Given the description of an element on the screen output the (x, y) to click on. 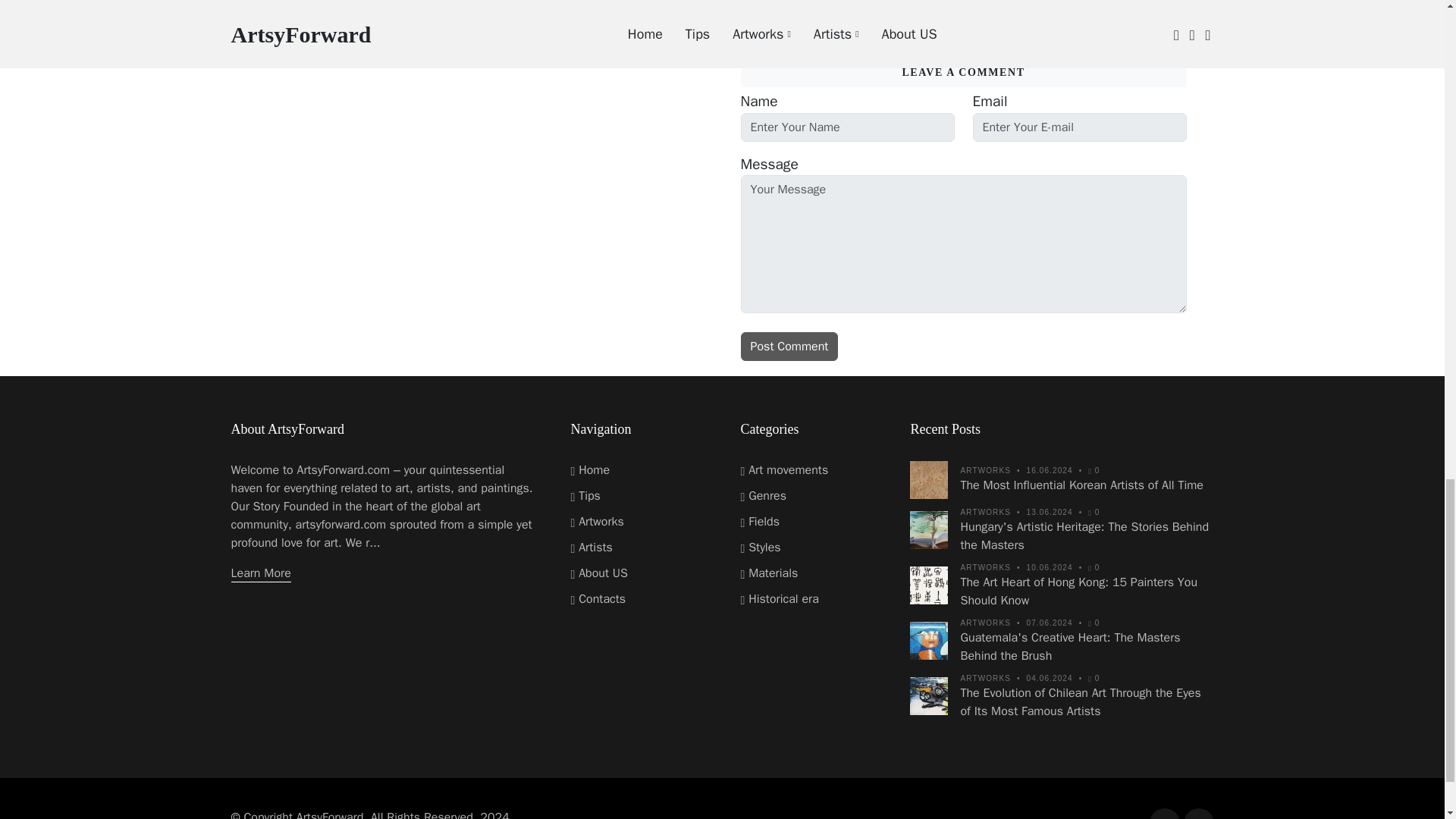
Post Comment (788, 346)
Artists (590, 547)
Home (590, 469)
About US (598, 572)
Artworks (596, 521)
Contacts (598, 598)
Learn More (259, 573)
Tips (584, 495)
Post Comment (788, 346)
